Given the description of an element on the screen output the (x, y) to click on. 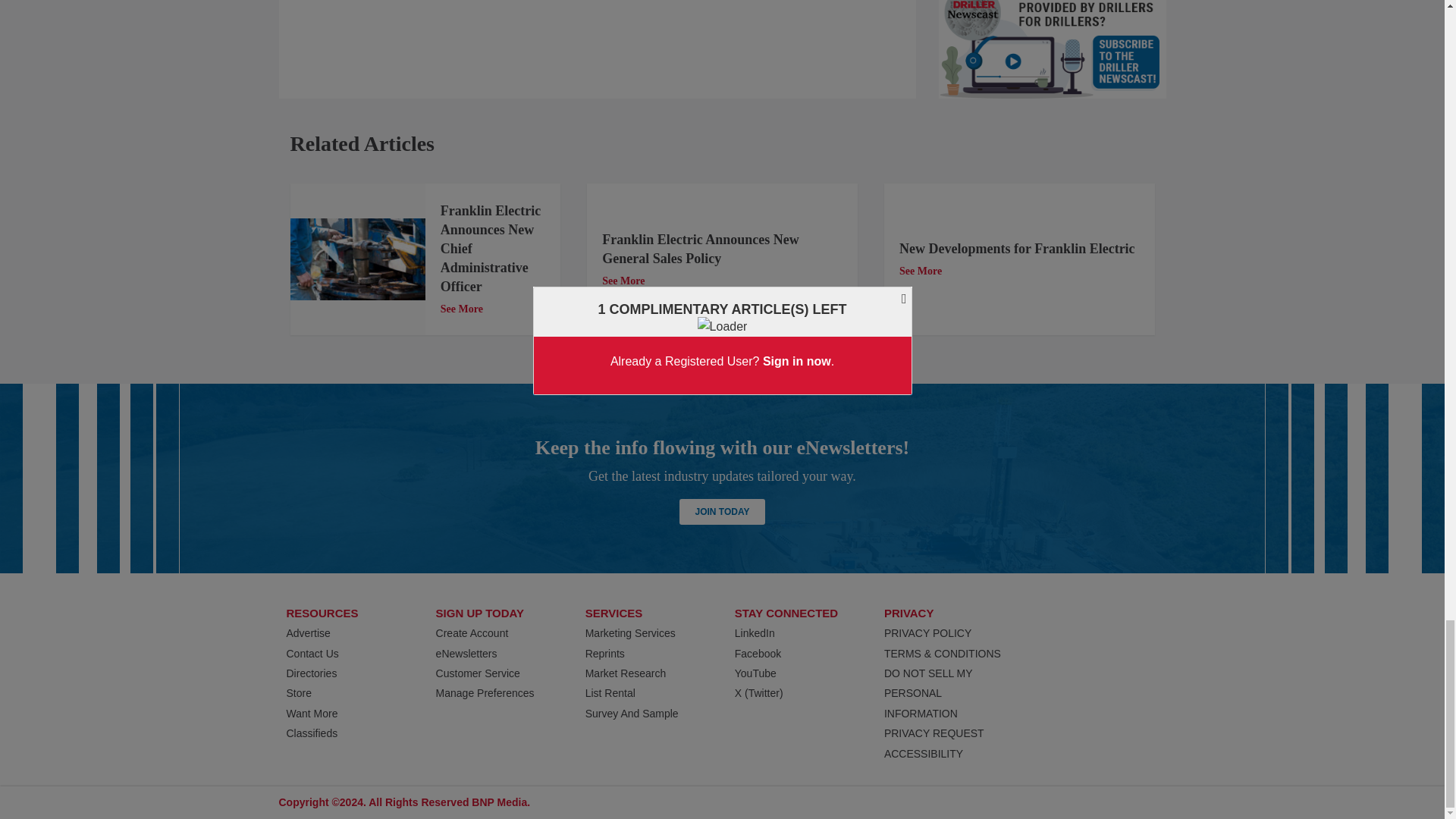
Water Wells Default (357, 258)
